Given the description of an element on the screen output the (x, y) to click on. 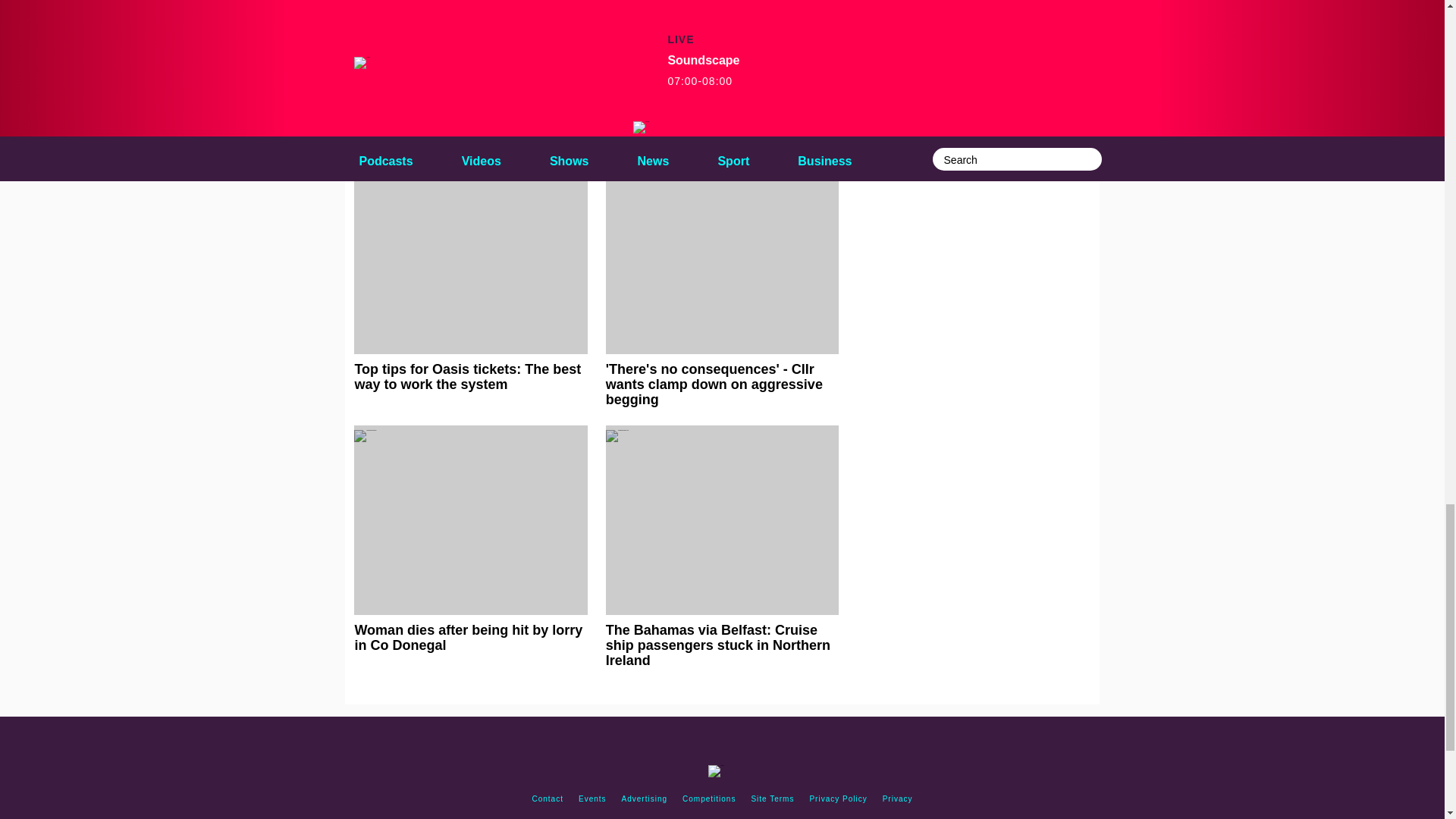
RAFA BENITEZ (733, 67)
EVERTON (785, 36)
BURNLEY (604, 36)
Privacy Policy (838, 799)
events (592, 799)
contact (547, 799)
ANWAR EL GHAZI (405, 36)
Privacy (897, 799)
NEWCASTLE (497, 67)
competitions (708, 799)
